Given the description of an element on the screen output the (x, y) to click on. 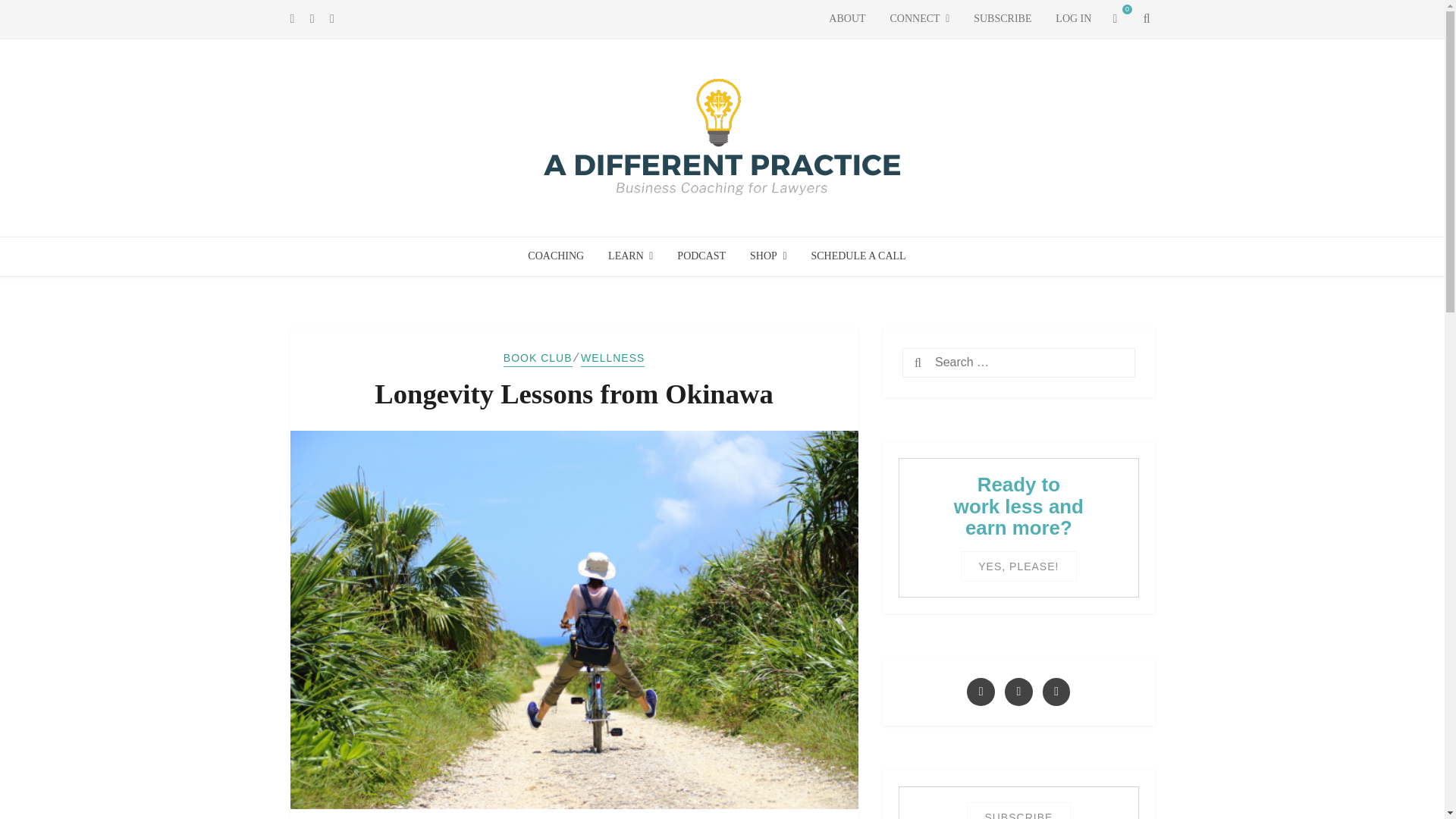
ABOUT (847, 19)
CONNECT (919, 19)
Search (944, 363)
Search (944, 363)
SUBSCRIBE (1002, 19)
LOG IN (1073, 19)
